Given the description of an element on the screen output the (x, y) to click on. 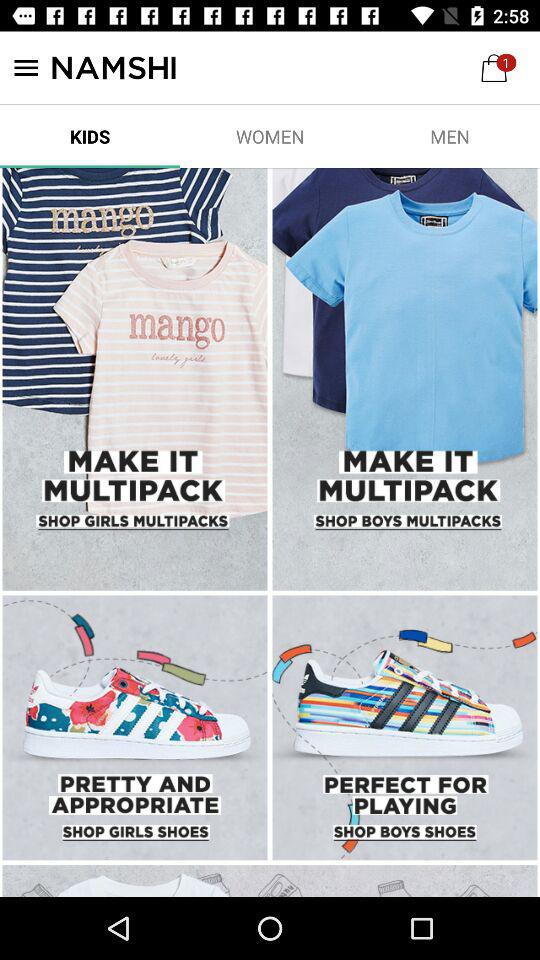
scroll to the men icon (450, 136)
